Given the description of an element on the screen output the (x, y) to click on. 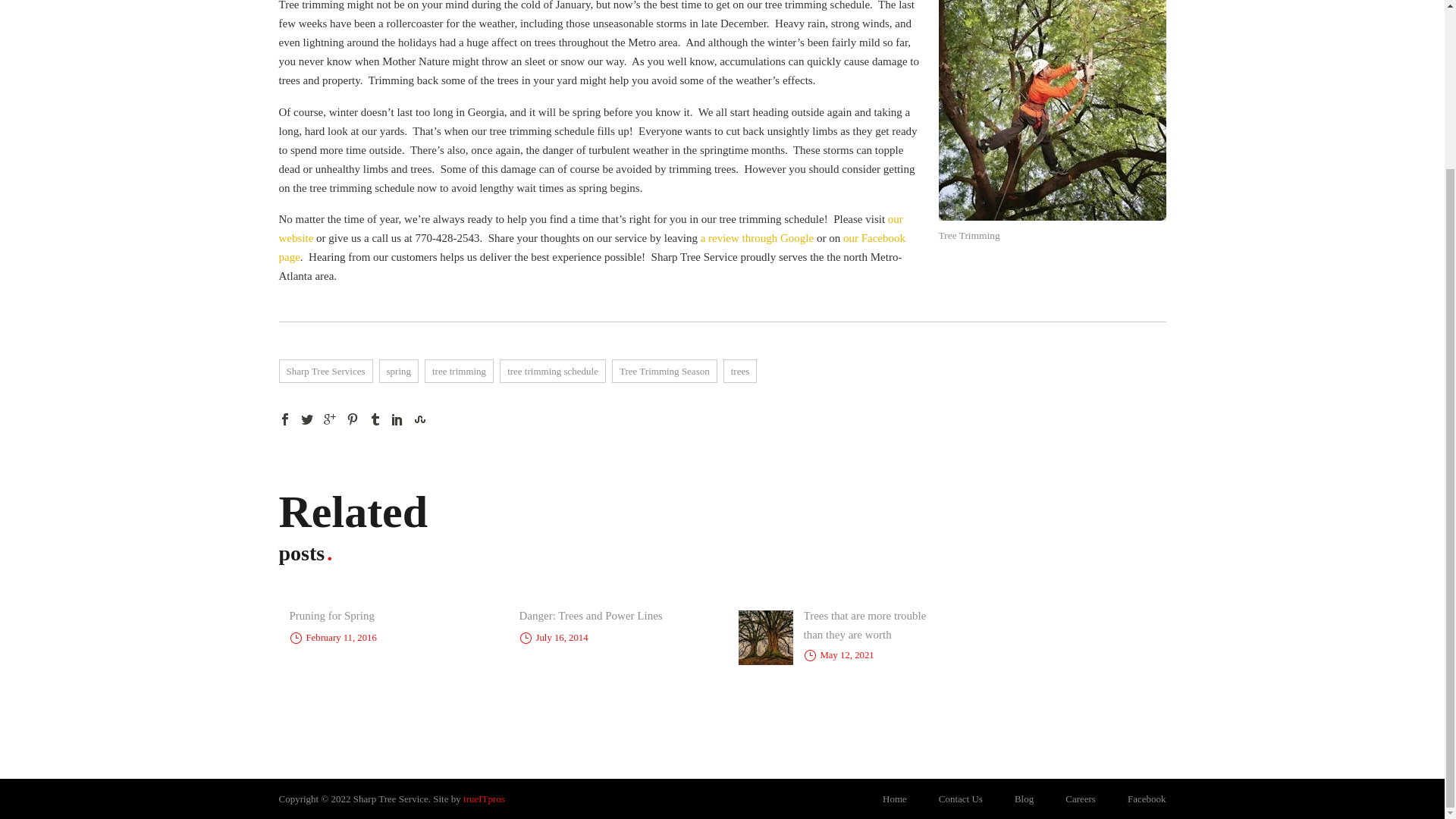
spring (398, 371)
StumbleUpon (419, 419)
Facebook (285, 419)
Danger: Trees and Power Lines (590, 615)
Pruning for Spring (332, 615)
tree trimming schedule (552, 371)
our website (590, 228)
Google Plus (329, 419)
Pinterest (352, 419)
trees (740, 371)
